Given the description of an element on the screen output the (x, y) to click on. 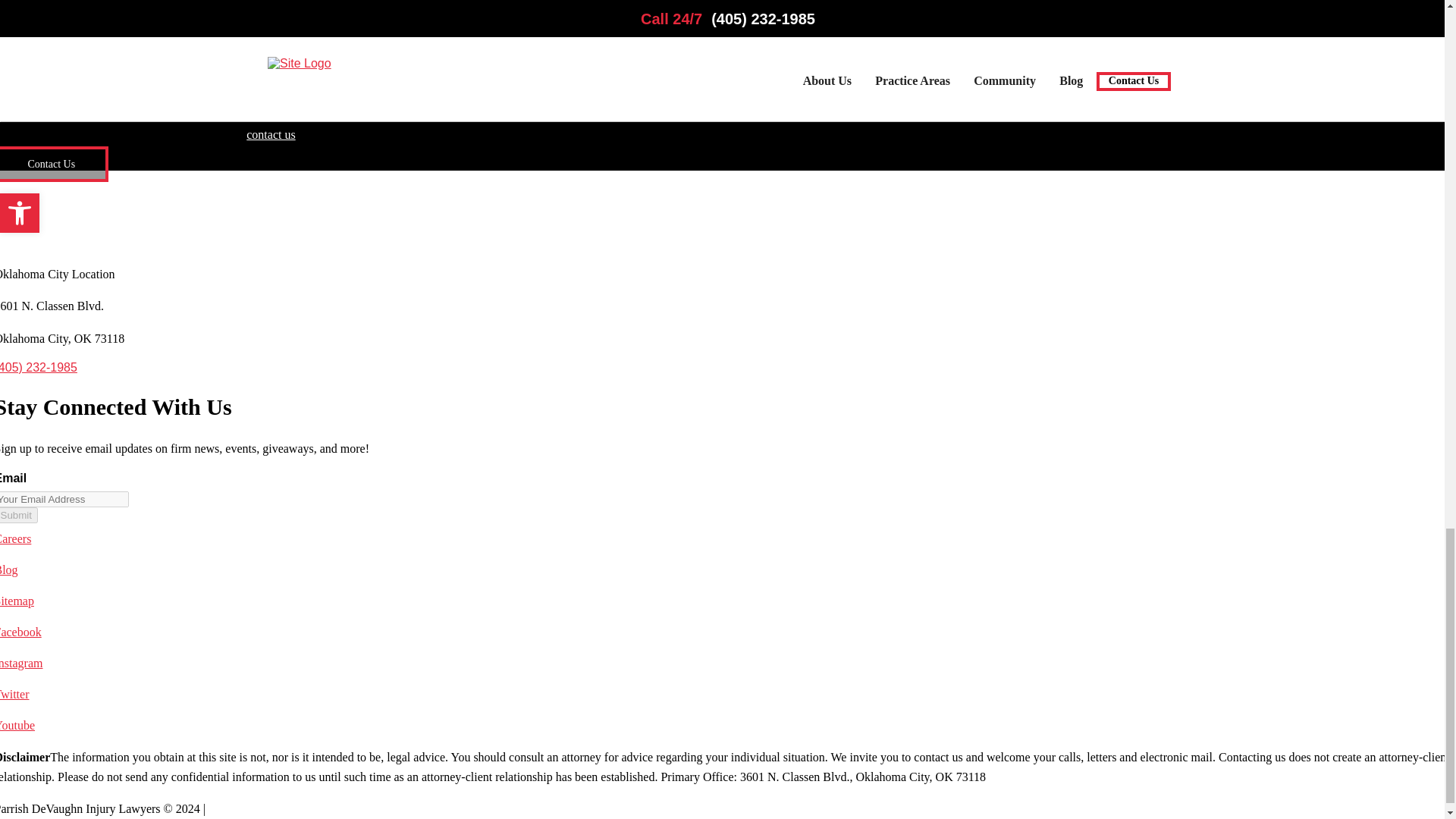
Submit (18, 514)
